Given the description of an element on the screen output the (x, y) to click on. 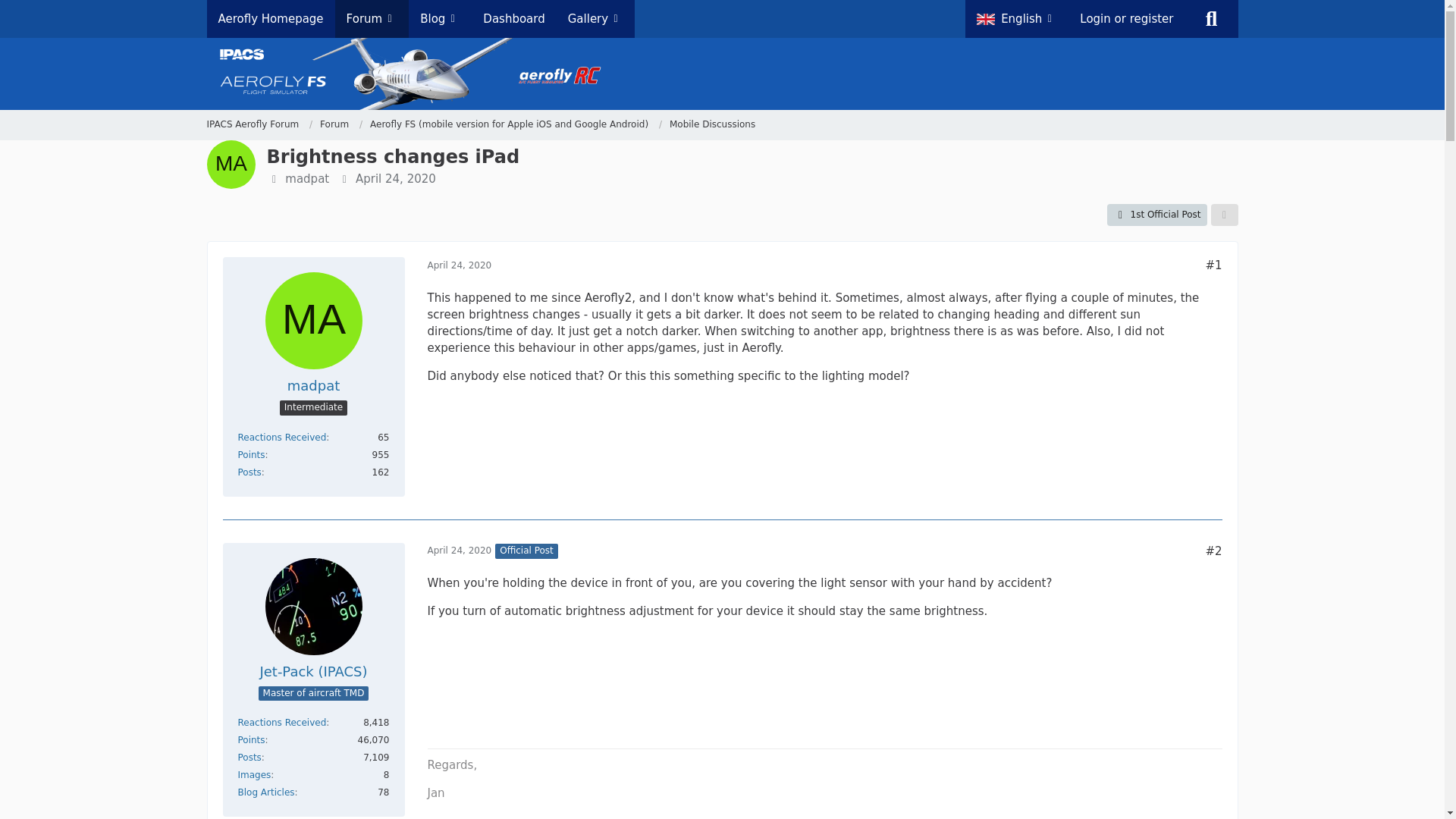
Reactions Received (282, 437)
madpat (307, 178)
Dashboard (513, 18)
Login or register (1126, 18)
Mobile Discussions (712, 124)
Reactions Received (282, 722)
madpat (313, 384)
Forum (341, 124)
